Given the description of an element on the screen output the (x, y) to click on. 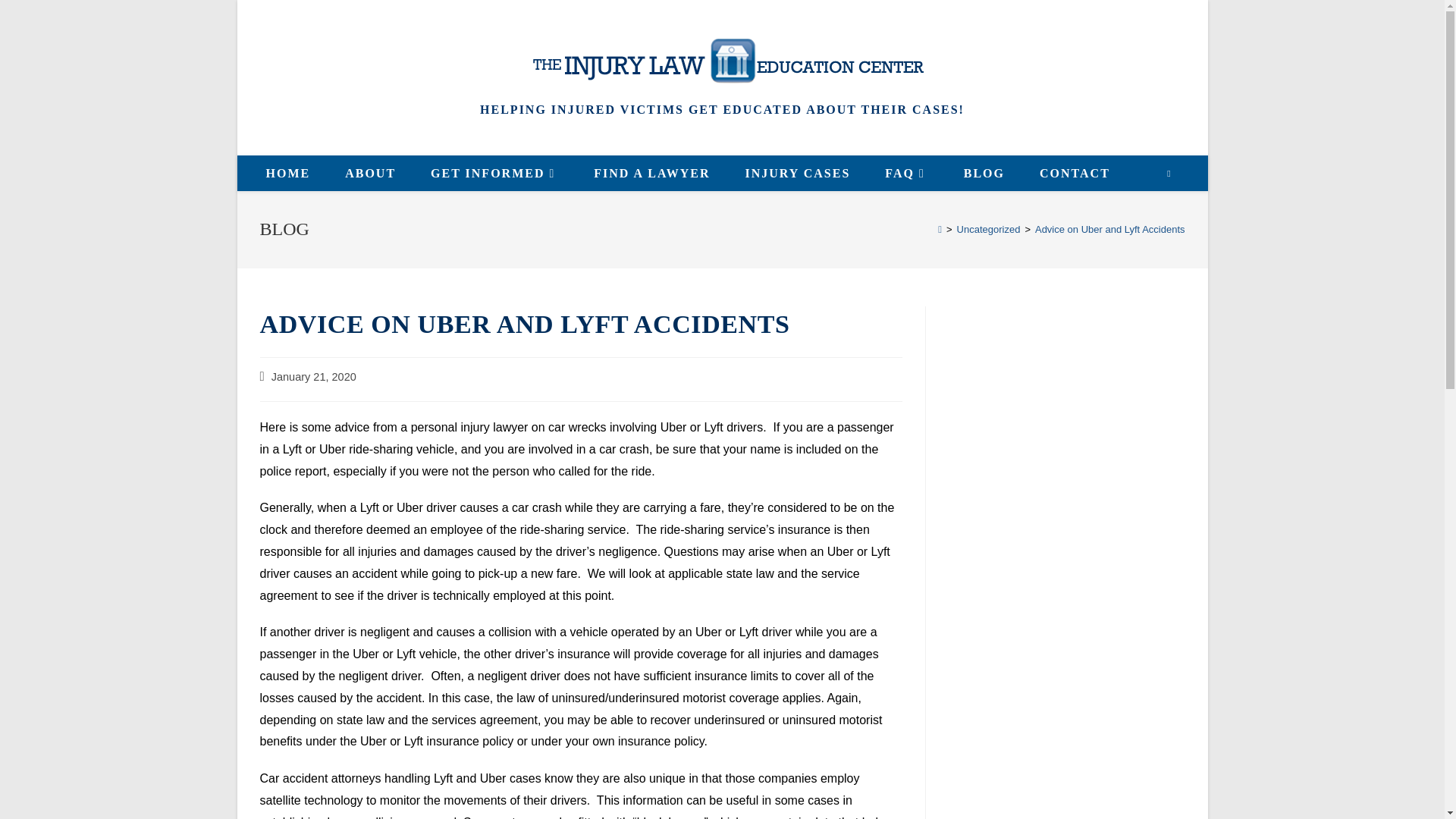
INJURY CASES (796, 172)
FIND A LAWYER (651, 172)
HOME (288, 172)
GET INFORMED (494, 172)
CONTACT (1074, 172)
BLOG (984, 172)
FAQ (905, 172)
ABOUT (370, 172)
